Given the description of an element on the screen output the (x, y) to click on. 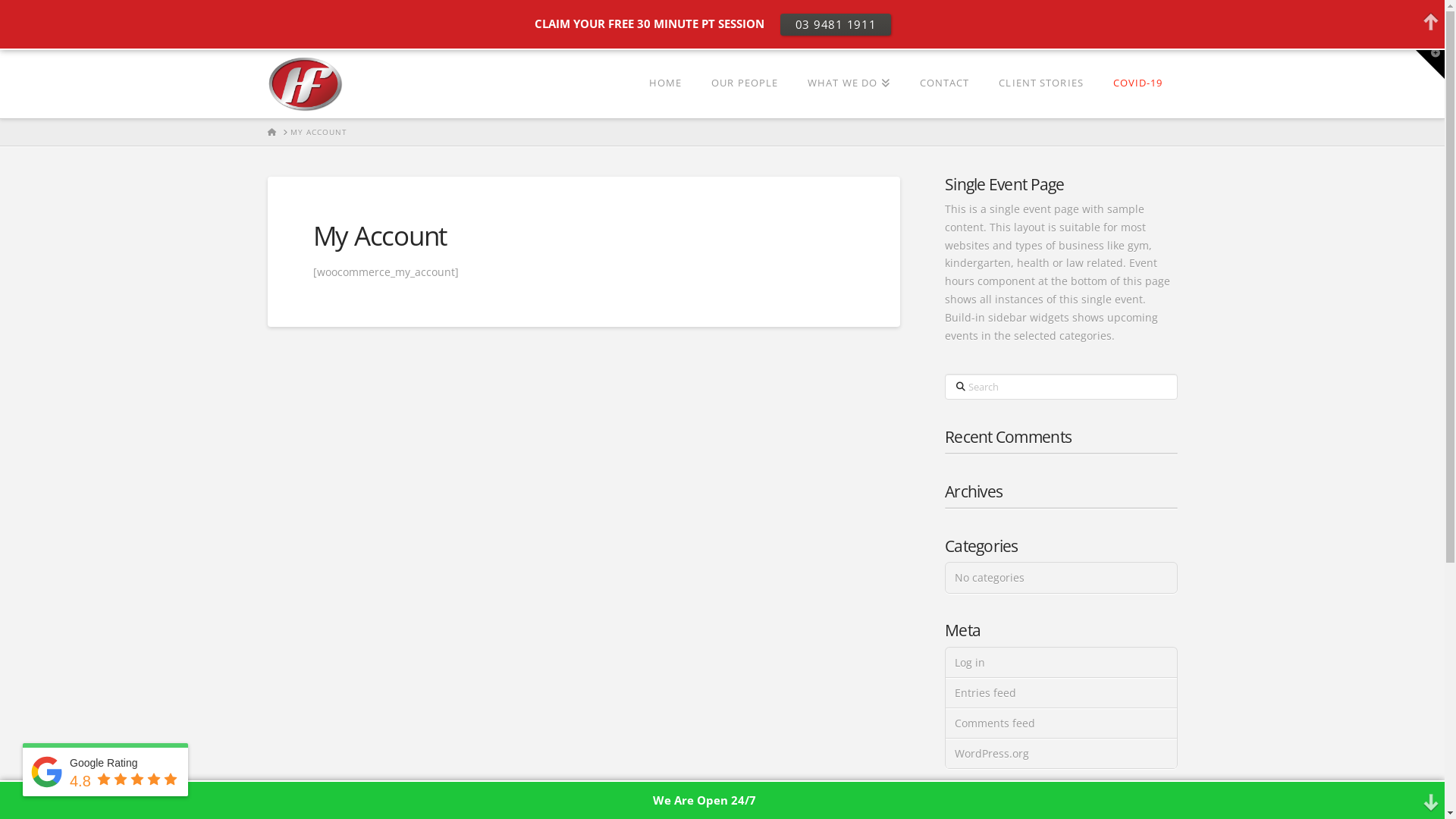
MY ACCOUNT Element type: text (317, 131)
CONTACT Element type: text (944, 84)
HOME Element type: text (271, 131)
Google Rating
4.8 Element type: text (105, 771)
WHAT WE DO Element type: text (848, 84)
Toggle the Widgetbar Element type: text (1429, 64)
WordPress.org Element type: text (1060, 753)
OUR PEOPLE Element type: text (744, 84)
Log in Element type: text (1060, 662)
Entries feed Element type: text (1060, 692)
Comments feed Element type: text (1060, 723)
COVID-19 Element type: text (1137, 84)
CLIENT STORIES Element type: text (1040, 84)
HOME Element type: text (664, 84)
